Given the description of an element on the screen output the (x, y) to click on. 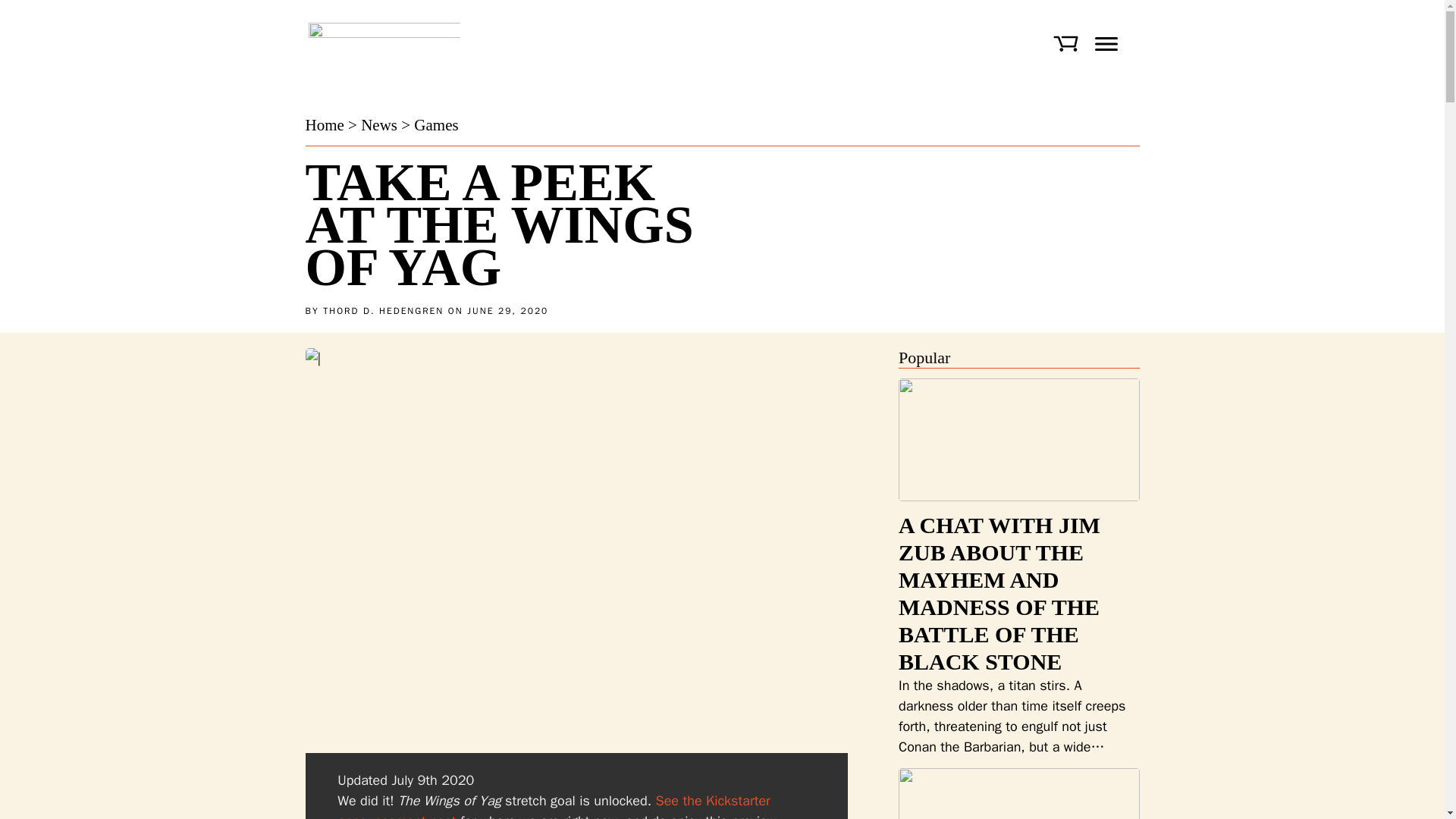
Games (435, 125)
Home (323, 125)
News (379, 125)
See the Kickstarter announcement post (553, 805)
